Given the description of an element on the screen output the (x, y) to click on. 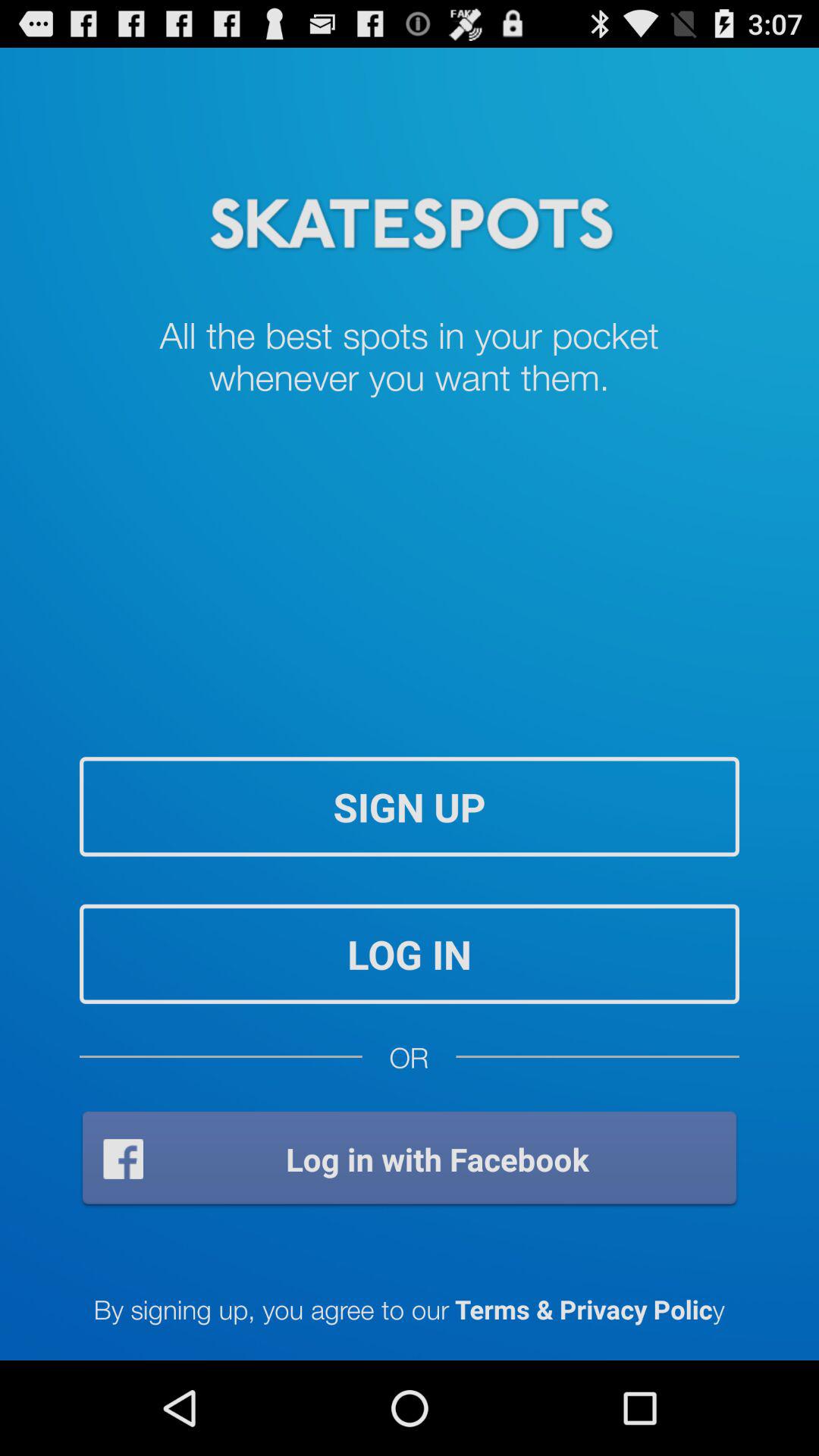
press the sign up icon (409, 806)
